Given the description of an element on the screen output the (x, y) to click on. 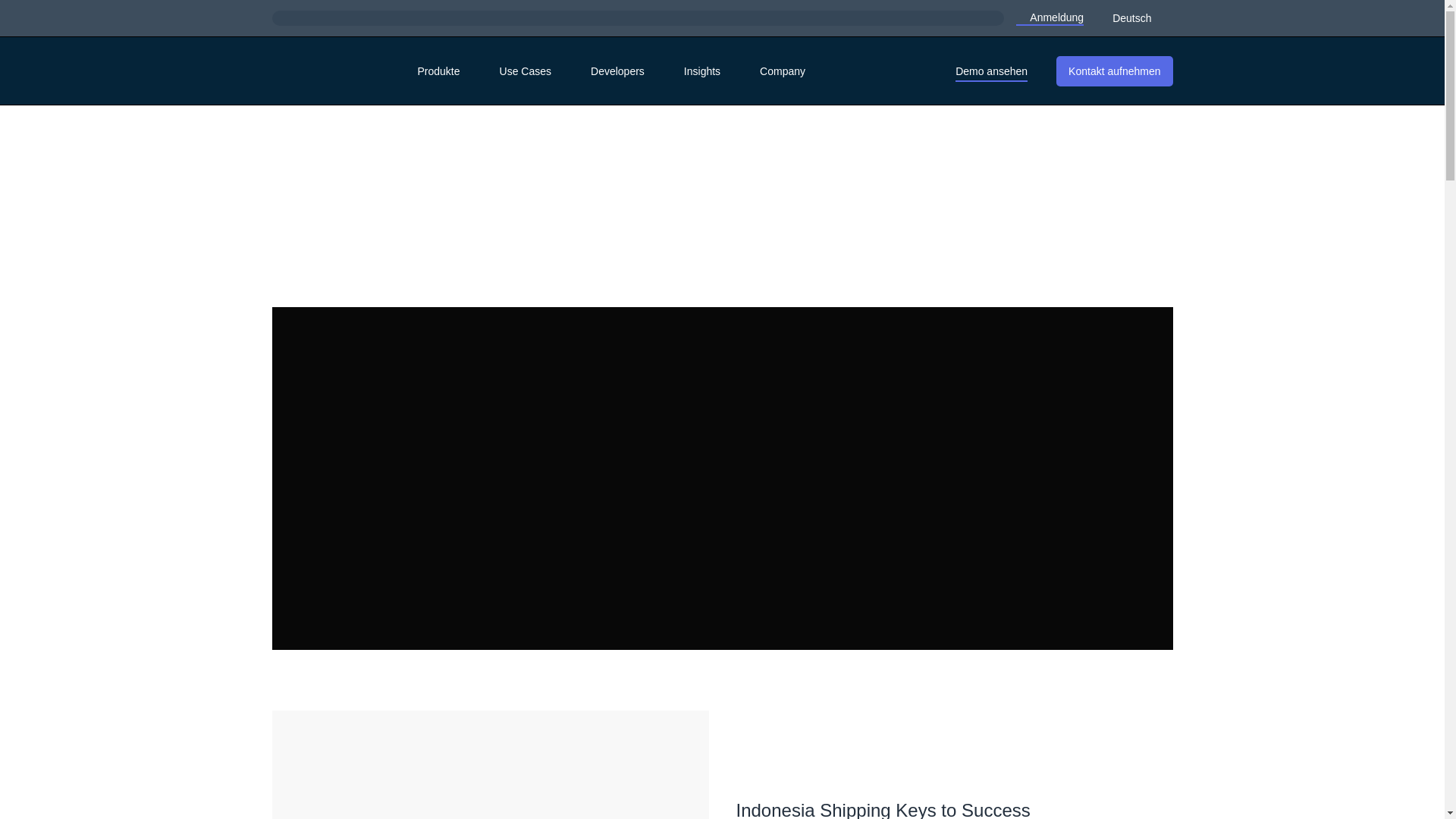
Deutsch (1140, 17)
Anmeldung (1049, 17)
